Given the description of an element on the screen output the (x, y) to click on. 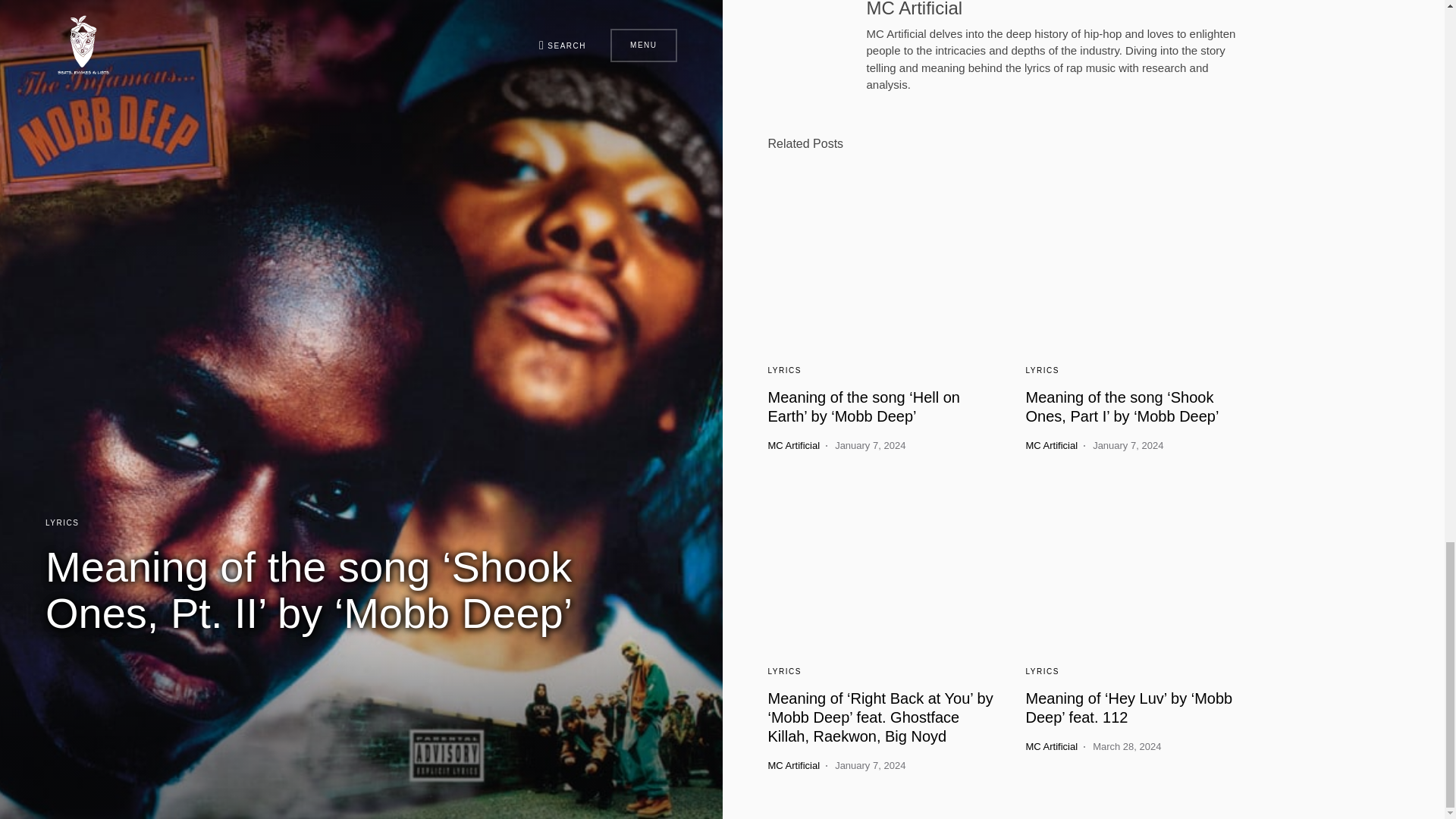
LYRICS (1041, 370)
View all posts by MC Artificial (1051, 746)
View all posts by MC Artificial (793, 445)
MC Artificial (914, 9)
LYRICS (783, 370)
View all posts by MC Artificial (793, 765)
LYRICS (783, 671)
MC Artificial (793, 445)
View all posts by MC Artificial (1051, 445)
MC Artificial (1051, 445)
